Given the description of an element on the screen output the (x, y) to click on. 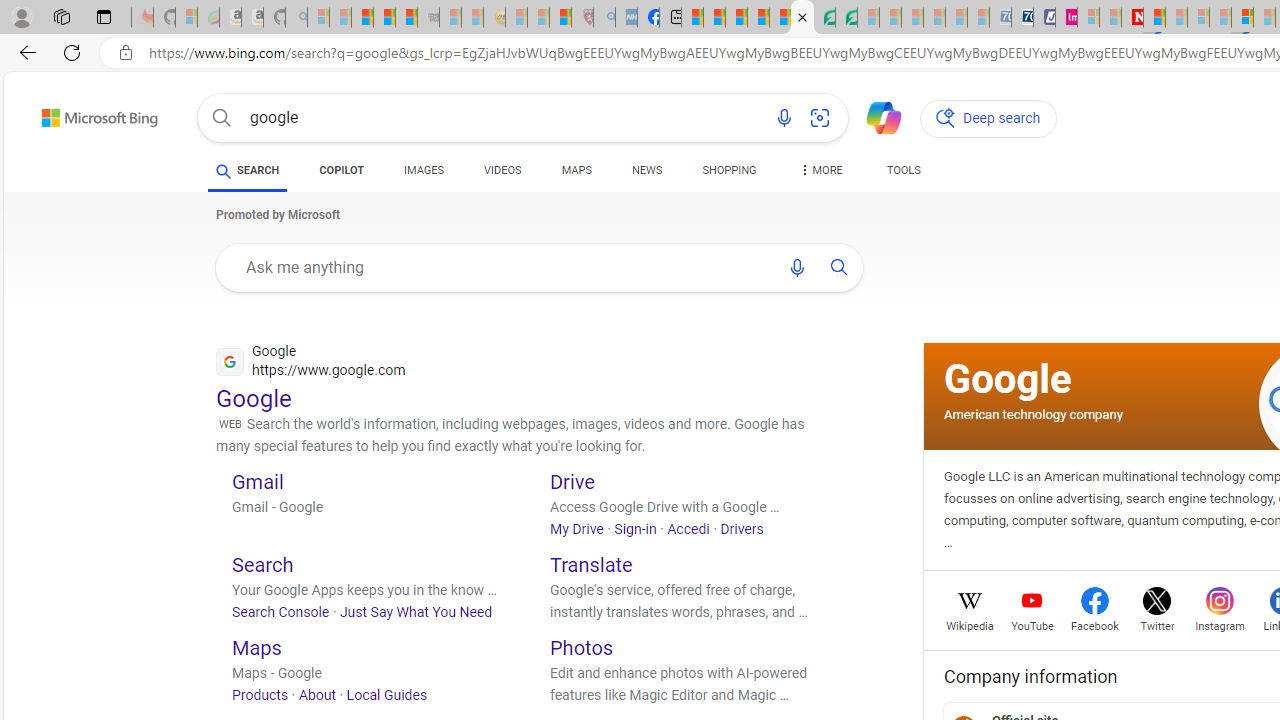
COPILOT (341, 173)
Facebook (1094, 624)
Products (260, 695)
